Given the description of an element on the screen output the (x, y) to click on. 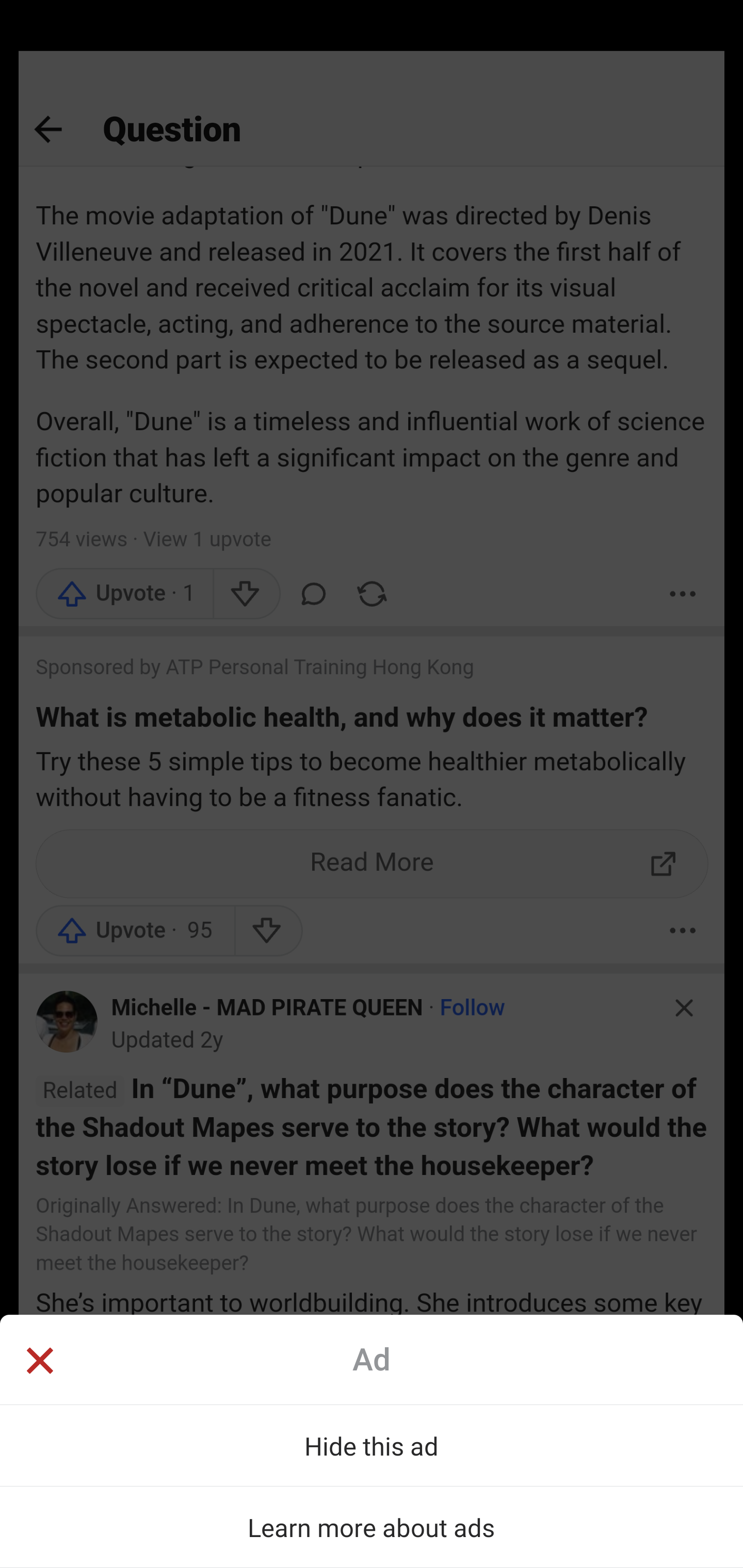
 Ad (371, 1358)
 (39, 1362)
Hide this ad (371, 1445)
Learn more about ads (371, 1527)
